Given the description of an element on the screen output the (x, y) to click on. 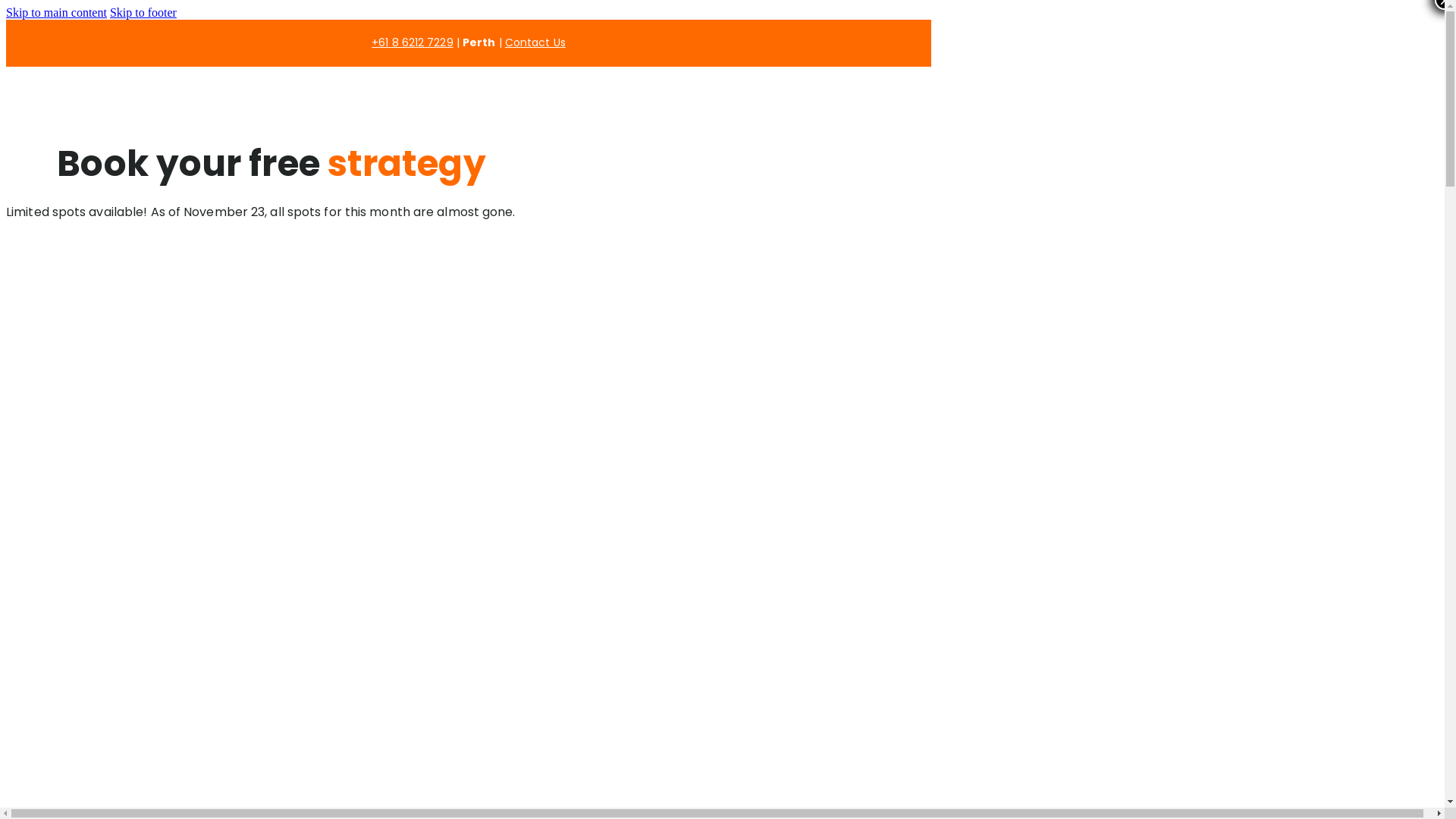
Contact Us Element type: text (535, 42)
Skip to main content Element type: text (56, 12)
Skip to footer Element type: text (142, 12)
+61 8 6212 7229 Element type: text (412, 42)
